Given the description of an element on the screen output the (x, y) to click on. 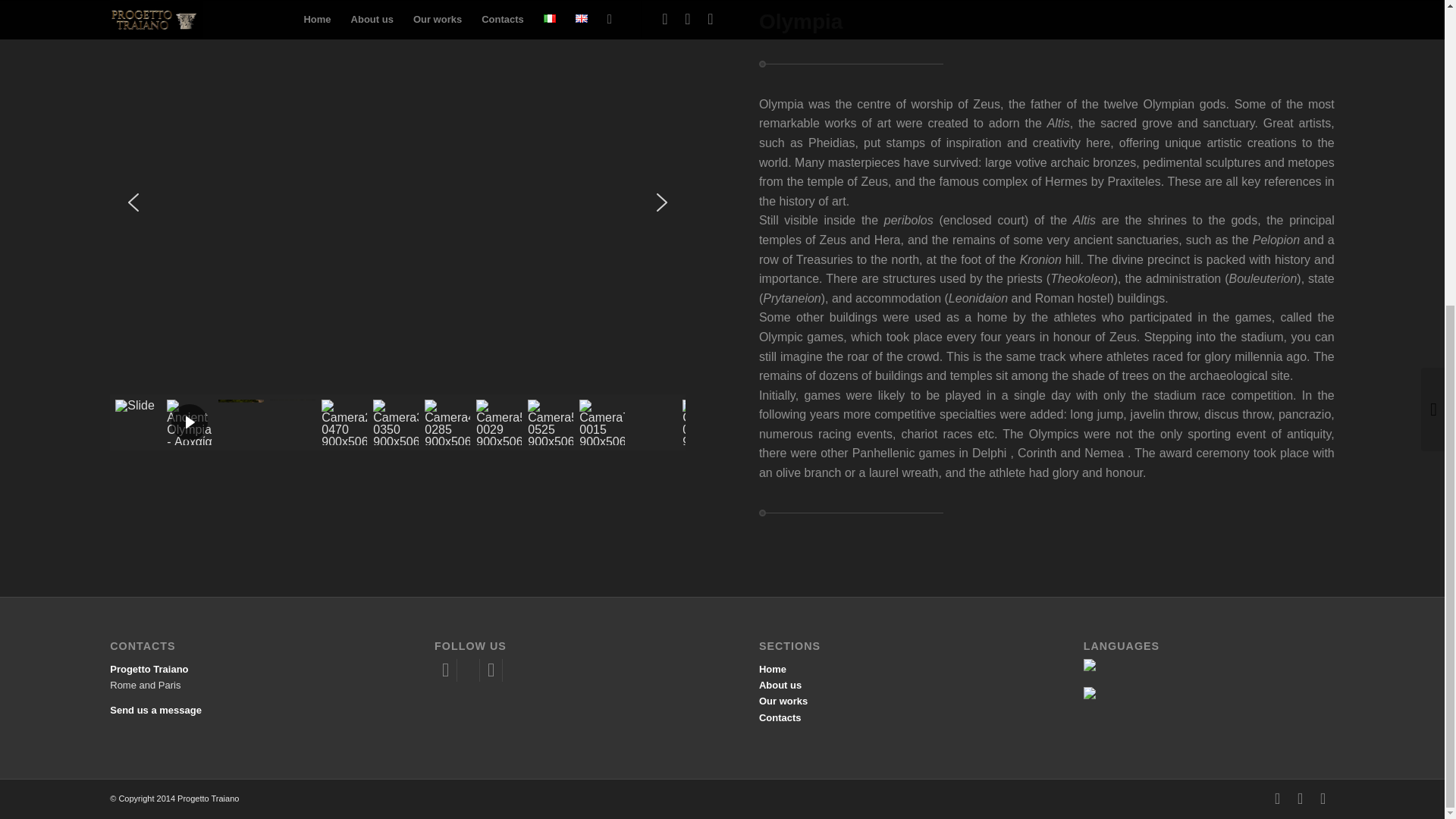
Home (772, 668)
Our works (783, 700)
Send us a message (156, 709)
Contacts (780, 717)
About us (780, 685)
